Given the description of an element on the screen output the (x, y) to click on. 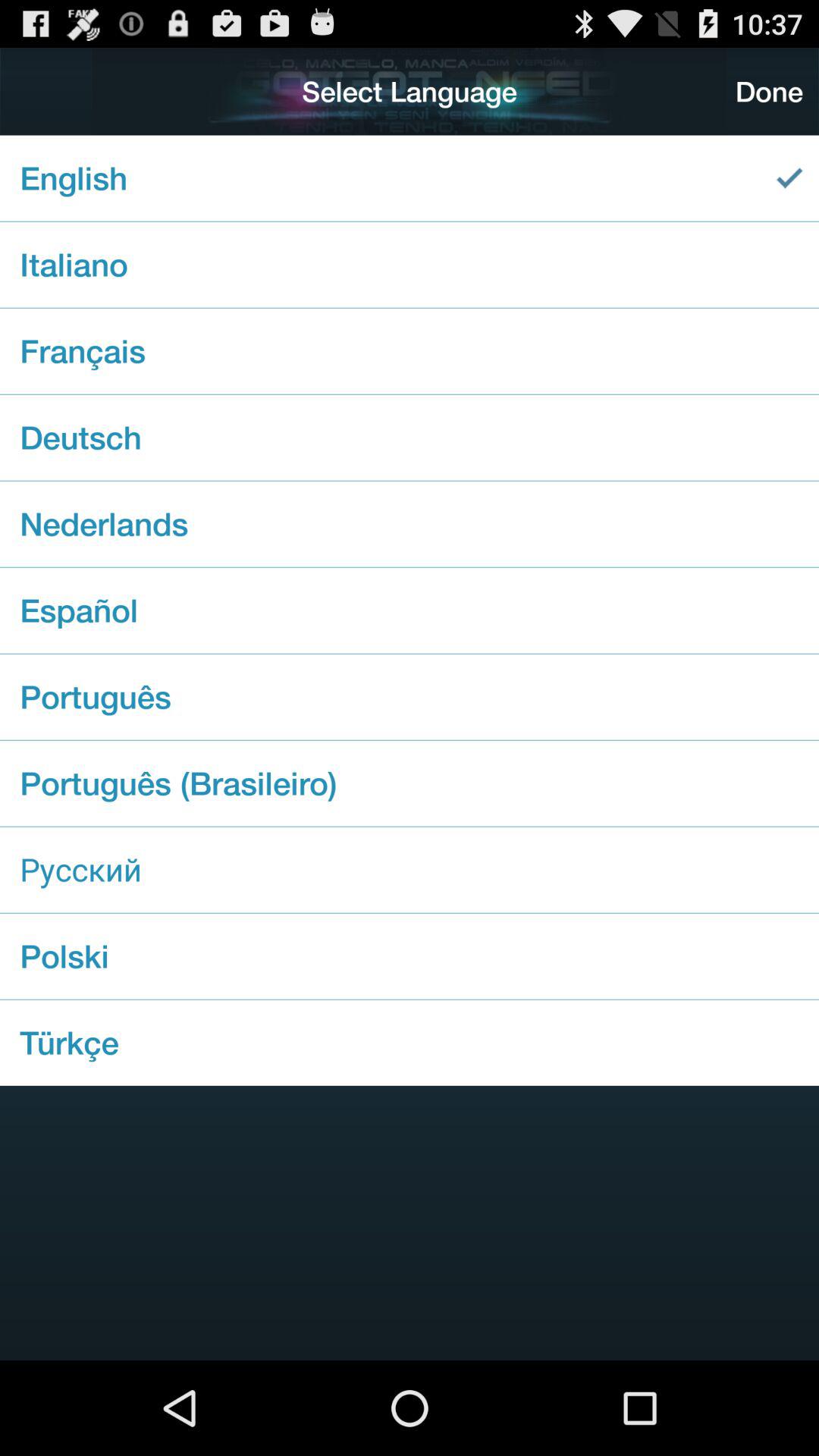
launch item above the polski icon (409, 869)
